Given the description of an element on the screen output the (x, y) to click on. 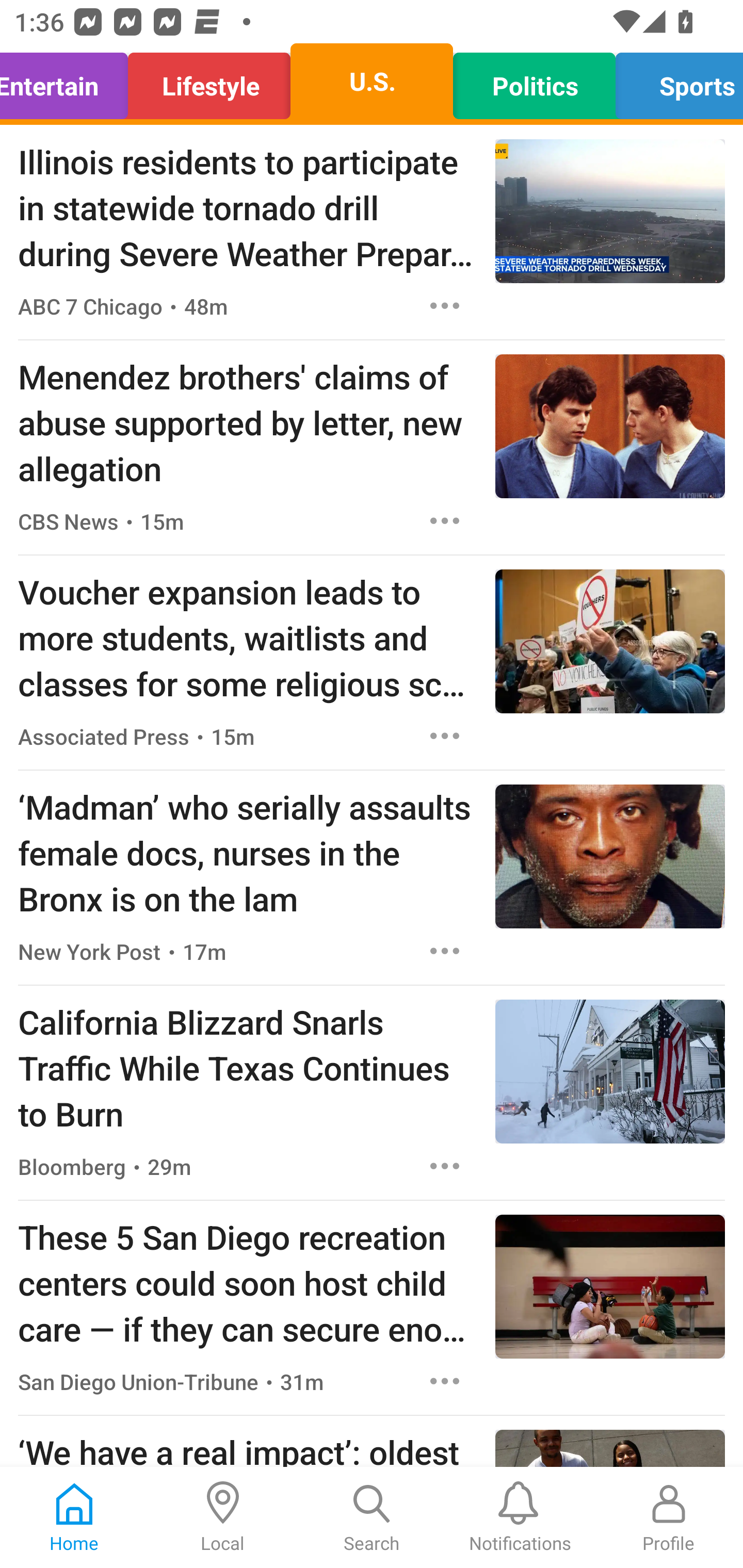
Entertain (69, 81)
Lifestyle (209, 81)
U.S. (371, 81)
Politics (534, 81)
Sports (673, 81)
Options (444, 305)
Options (444, 520)
Options (444, 736)
Options (444, 950)
Options (444, 1166)
Options (444, 1381)
Local (222, 1517)
Search (371, 1517)
Notifications (519, 1517)
Profile (668, 1517)
